Given the description of an element on the screen output the (x, y) to click on. 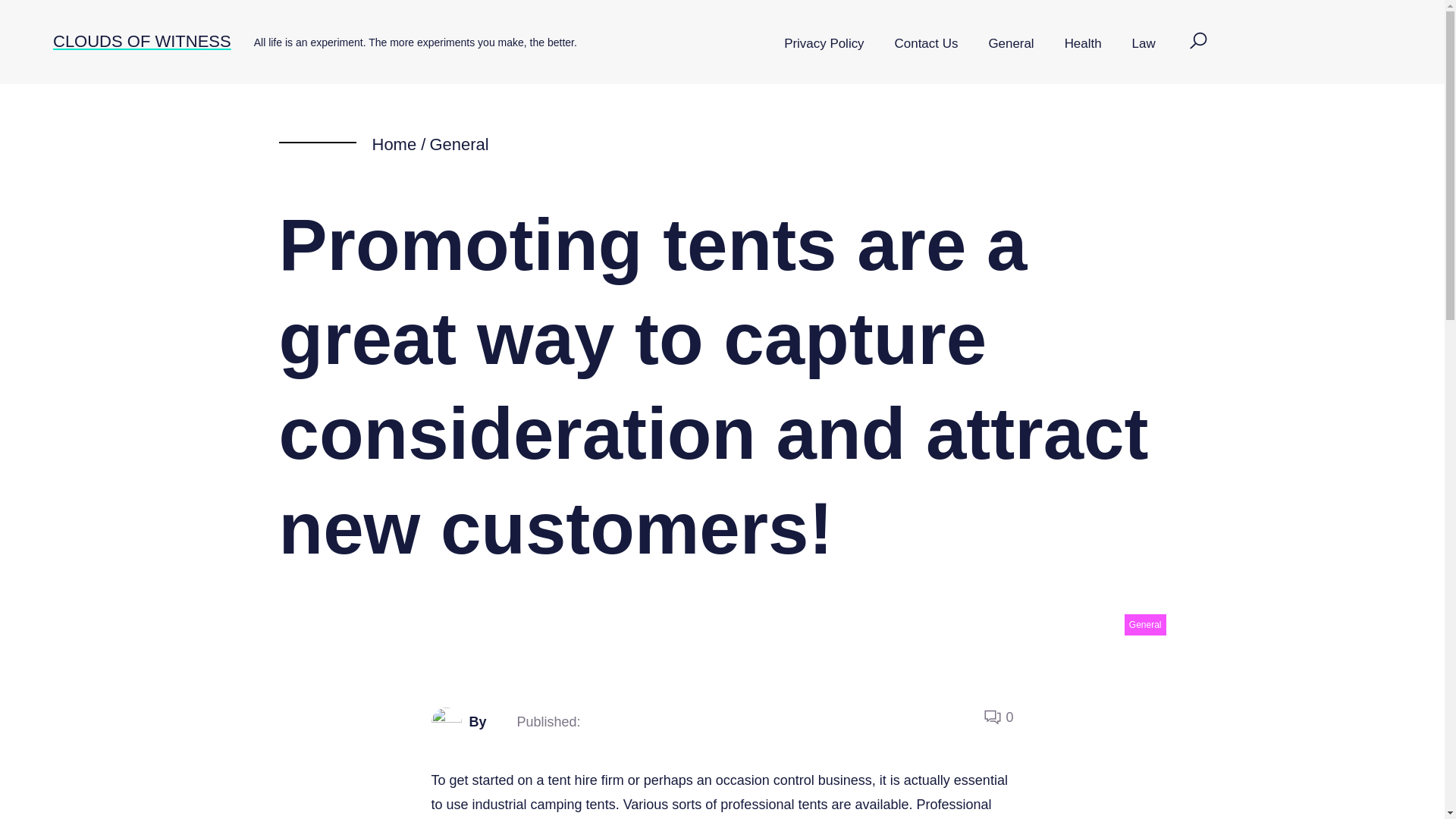
General (1010, 43)
General (1145, 624)
Privacy Policy (823, 43)
General (458, 144)
Home (393, 144)
Health (1082, 43)
CLOUDS OF WITNESS (141, 40)
Contact Us (926, 43)
